Given the description of an element on the screen output the (x, y) to click on. 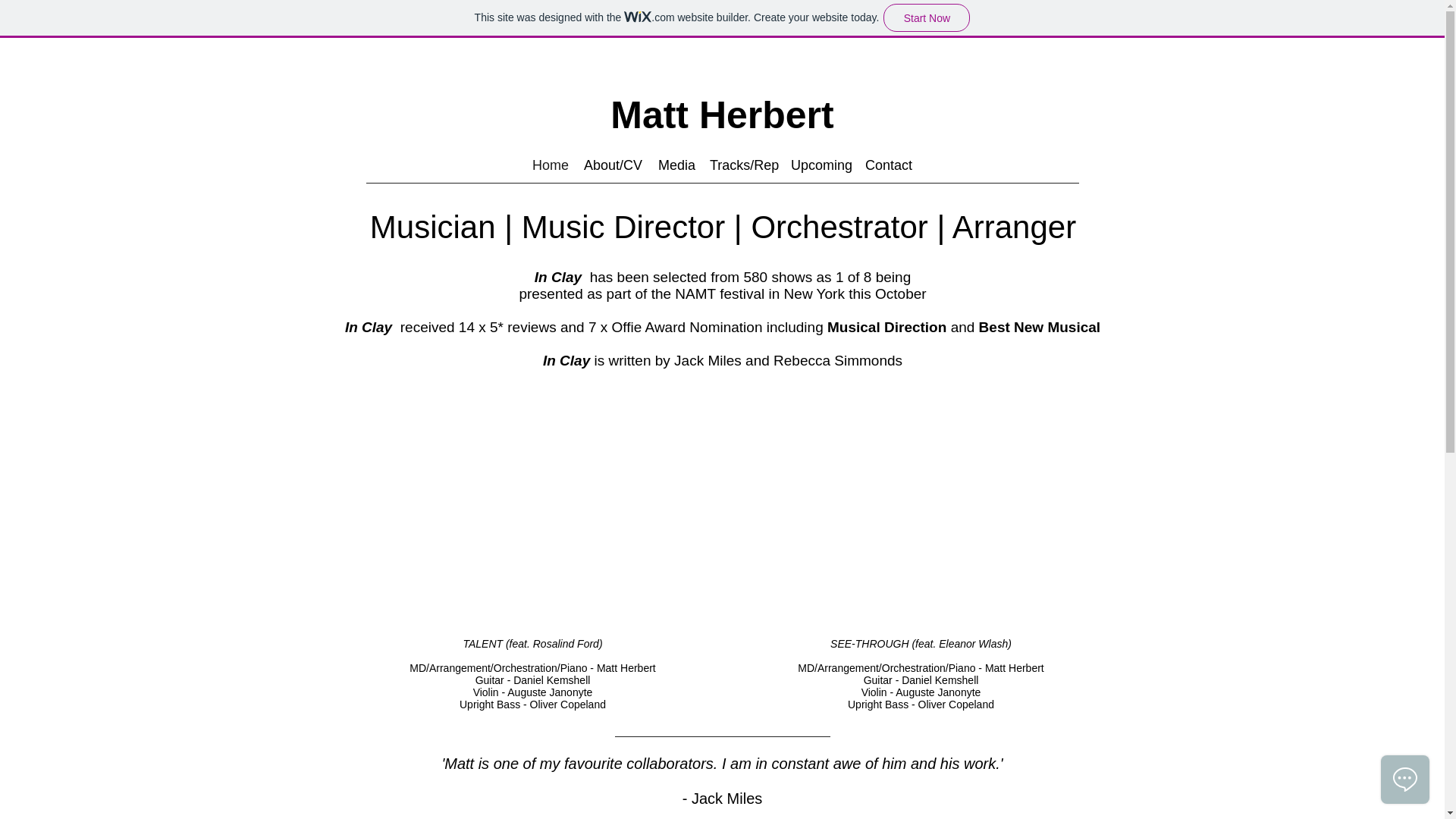
Media (675, 164)
Contact (888, 164)
Home (549, 164)
Matt Herbert (721, 115)
Upcoming (820, 164)
